Given the description of an element on the screen output the (x, y) to click on. 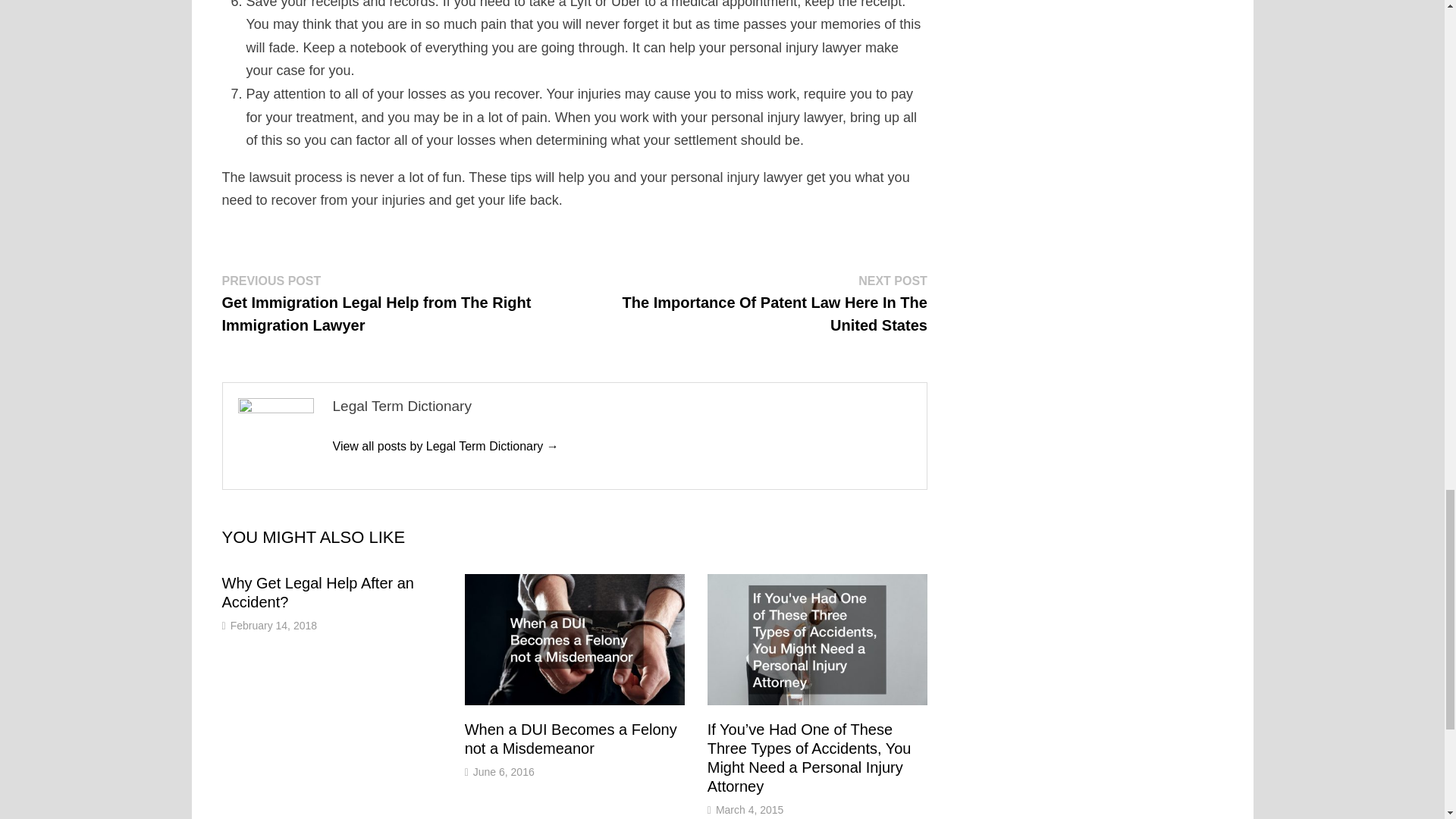
March 4, 2015 (750, 809)
June 6, 2016 (503, 771)
Why Get Legal Help After an Accident? (317, 592)
Legal Term Dictionary (444, 445)
February 14, 2018 (273, 625)
When a DUI Becomes a Felony not a Misdemeanor (570, 738)
When a DUI Becomes a Felony not a Misdemeanor (570, 738)
Why Get Legal Help After an Accident? (317, 592)
